Given the description of an element on the screen output the (x, y) to click on. 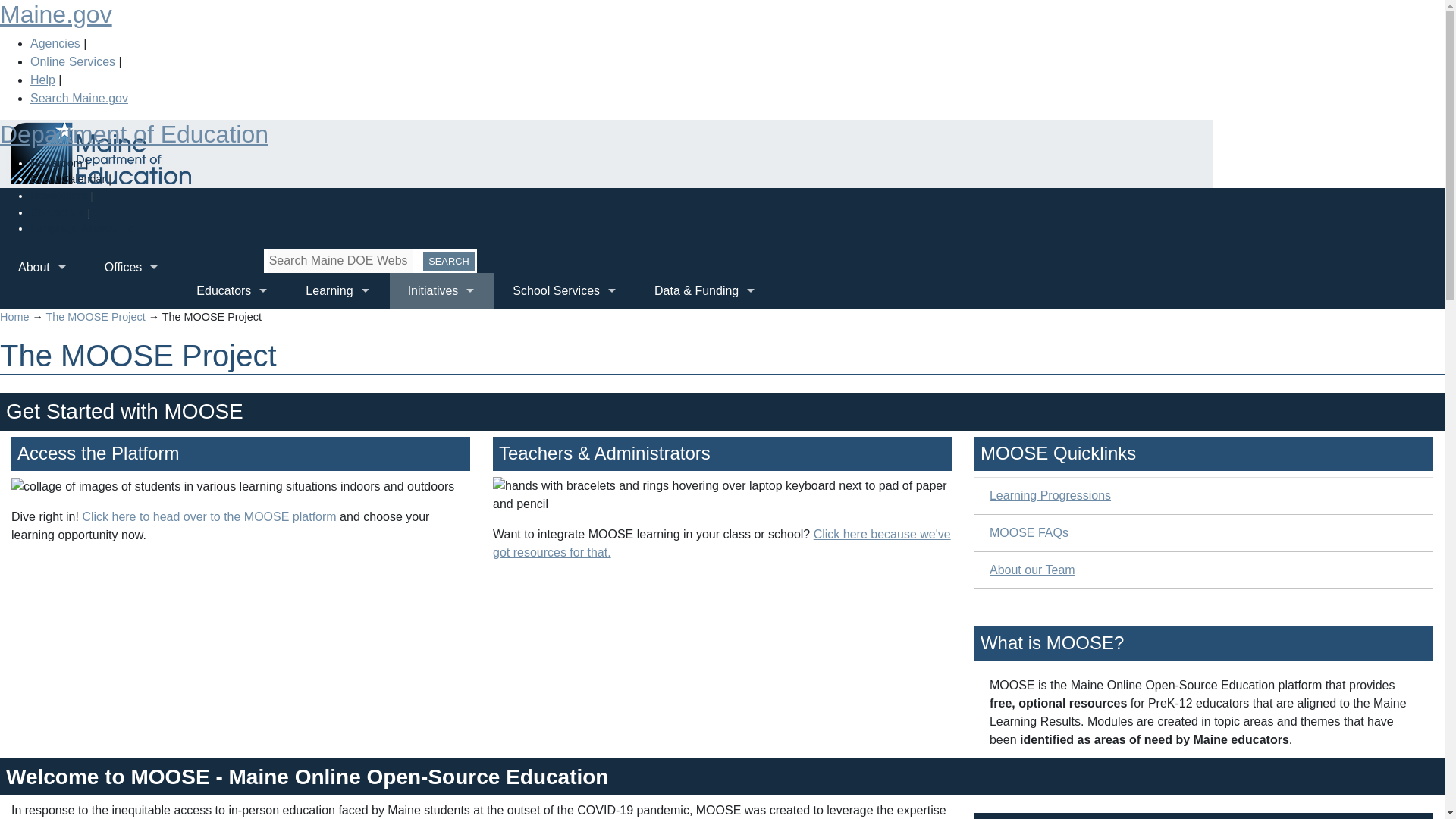
Department of Education (133, 134)
Online Services (72, 61)
Agencies (55, 42)
Help (42, 79)
Newsroom (56, 162)
Contact Us (57, 212)
Newsletters (58, 195)
Search (448, 261)
Language Assistance (81, 227)
Event Calendar (67, 178)
Maine.gov (56, 13)
Search (448, 261)
Enter the terms you wish to search for (339, 260)
Search Maine.gov (79, 97)
